Given the description of an element on the screen output the (x, y) to click on. 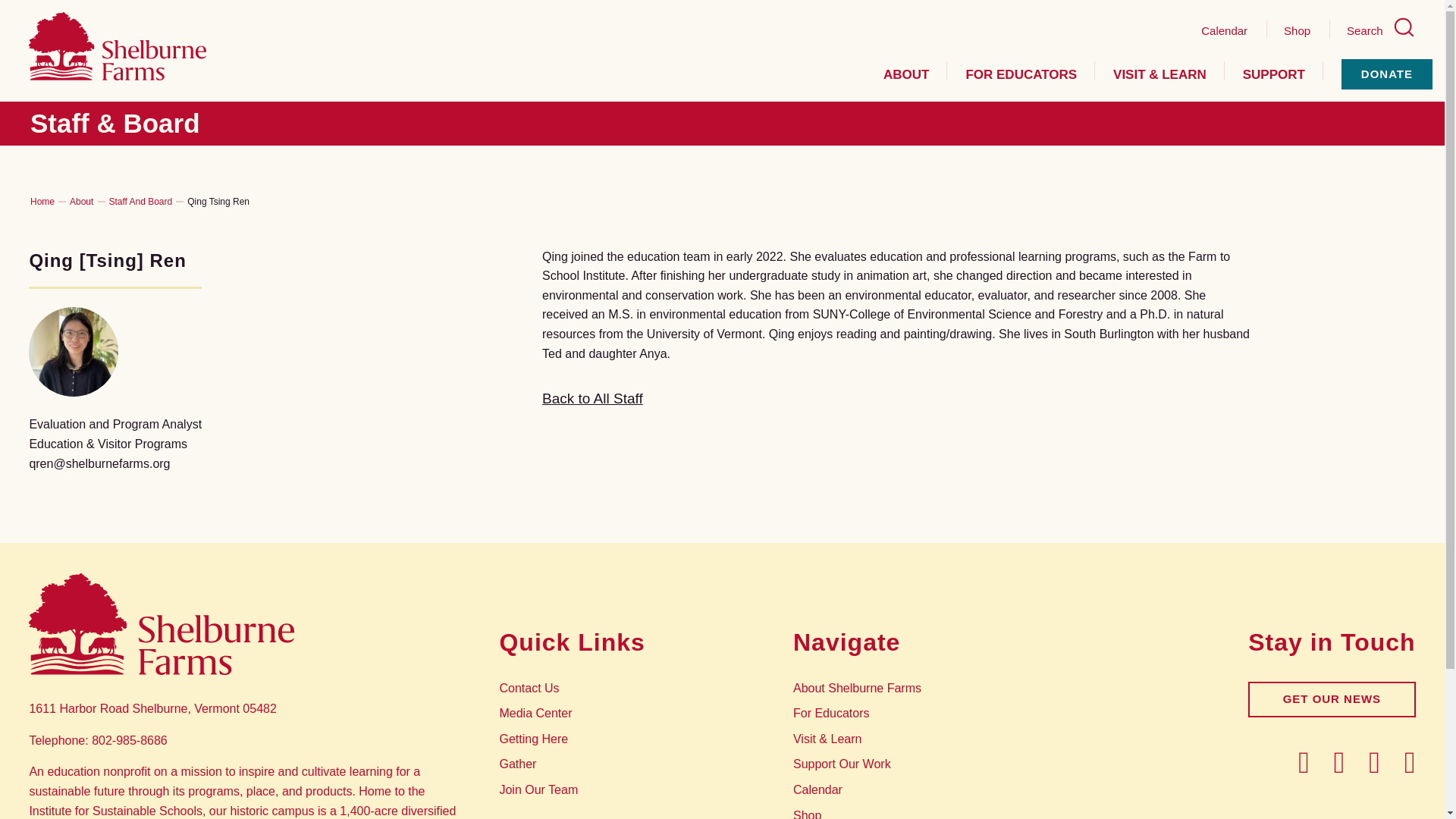
Shop (1297, 30)
FOR EDUCATORS (1021, 74)
SKIP TO MAIN CONTENT (19, 15)
Calendar (1224, 30)
Search (1380, 30)
ABOUT (905, 74)
